Given the description of an element on the screen output the (x, y) to click on. 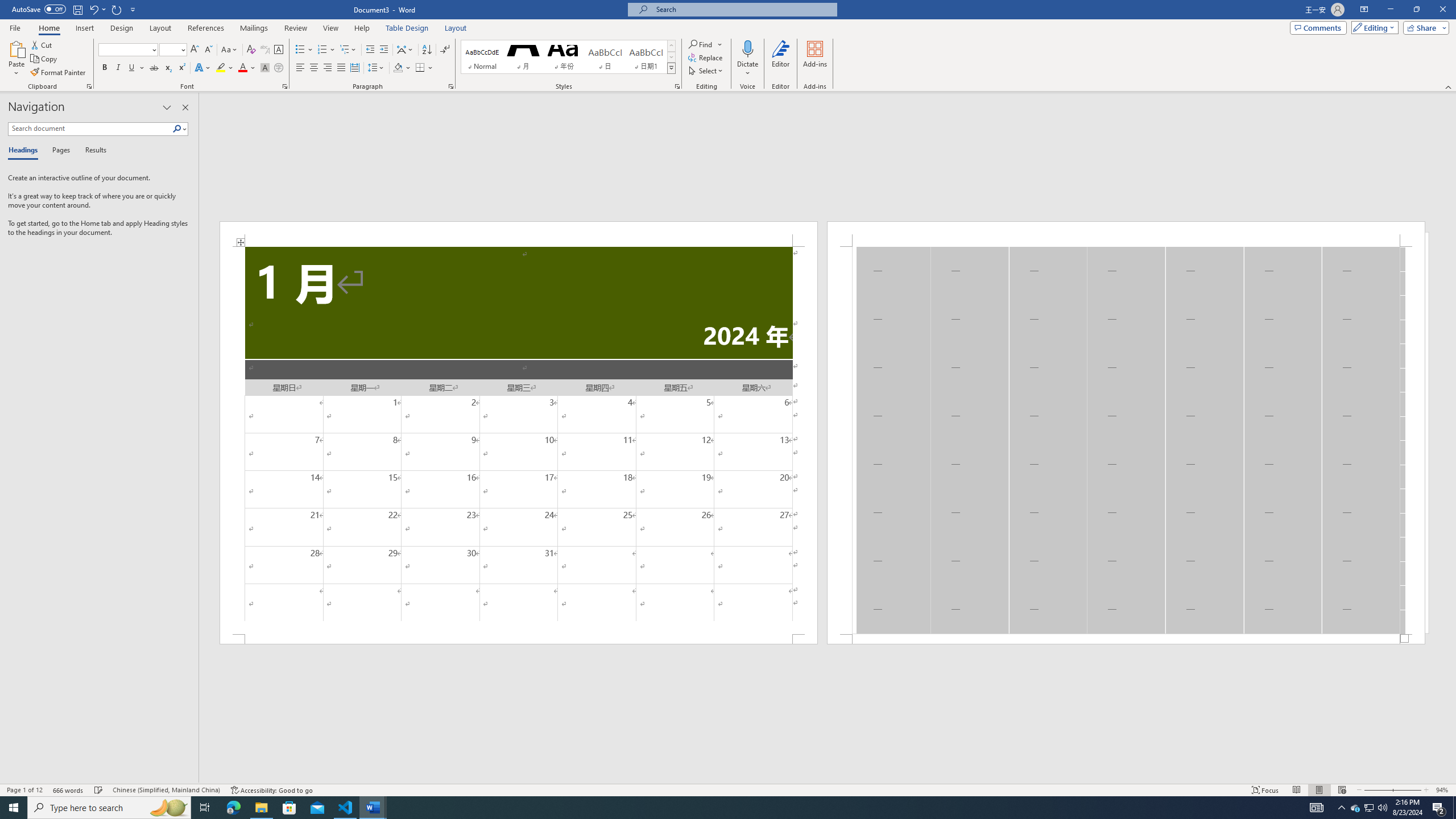
Paste (16, 48)
Clear Formatting (250, 49)
Superscript (180, 67)
Minimize (1390, 9)
Class: NetUIScrollBar (827, 778)
Share (1423, 27)
Ribbon Display Options (1364, 9)
Class: MsoCommandBar (728, 789)
Font (124, 49)
Change Case (229, 49)
Zoom In (1407, 790)
Row up (670, 45)
Undo Apply Quick Style (92, 9)
Find (700, 44)
